Given the description of an element on the screen output the (x, y) to click on. 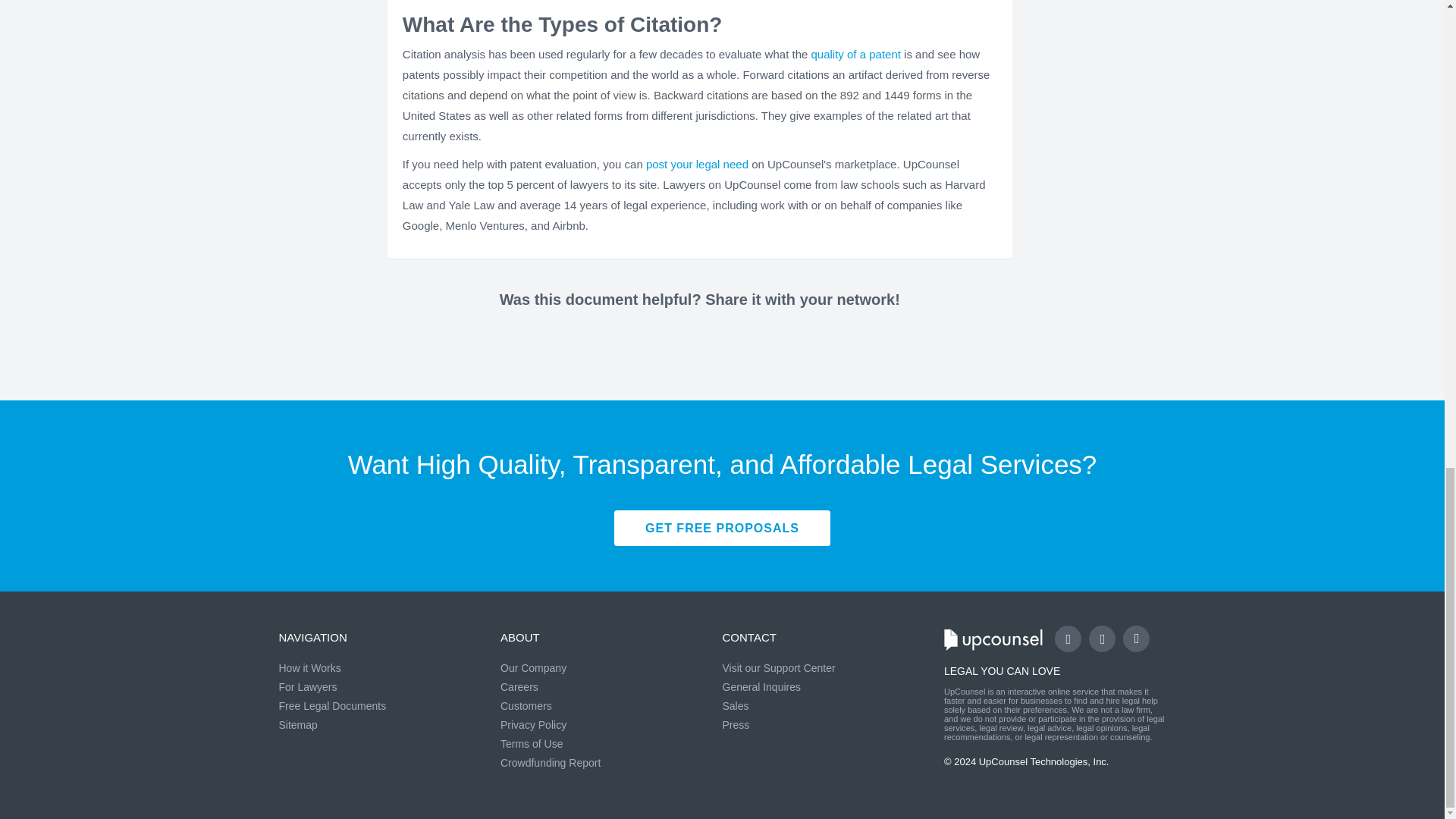
quality of a patent (855, 53)
Connect with us on LinkedIn (1136, 638)
Like us on Facebook (1067, 638)
Follow us on Twitter (1102, 638)
post your legal need (697, 164)
